Given the description of an element on the screen output the (x, y) to click on. 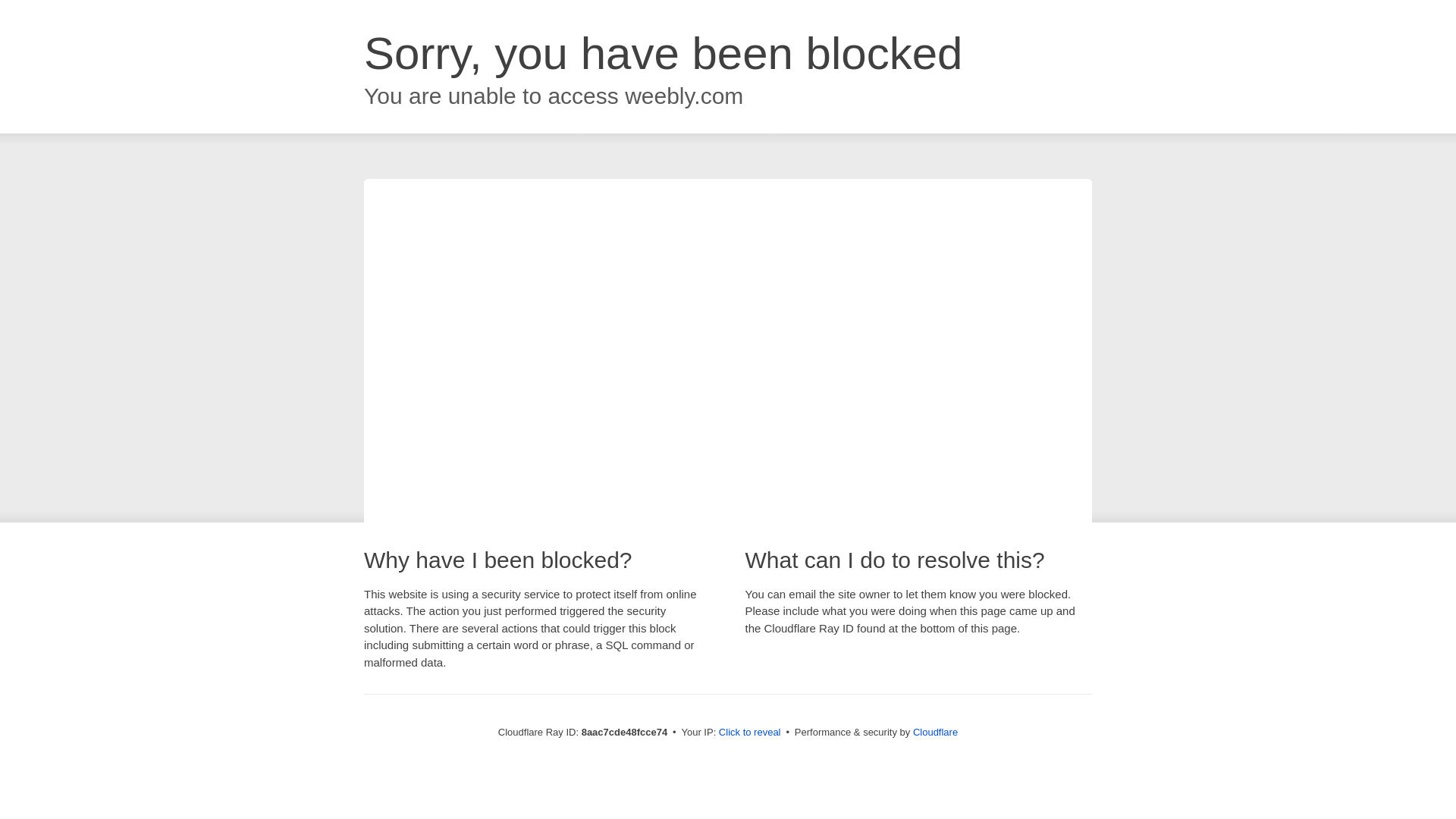
Cloudflare (935, 731)
Click to reveal (749, 732)
